Given the description of an element on the screen output the (x, y) to click on. 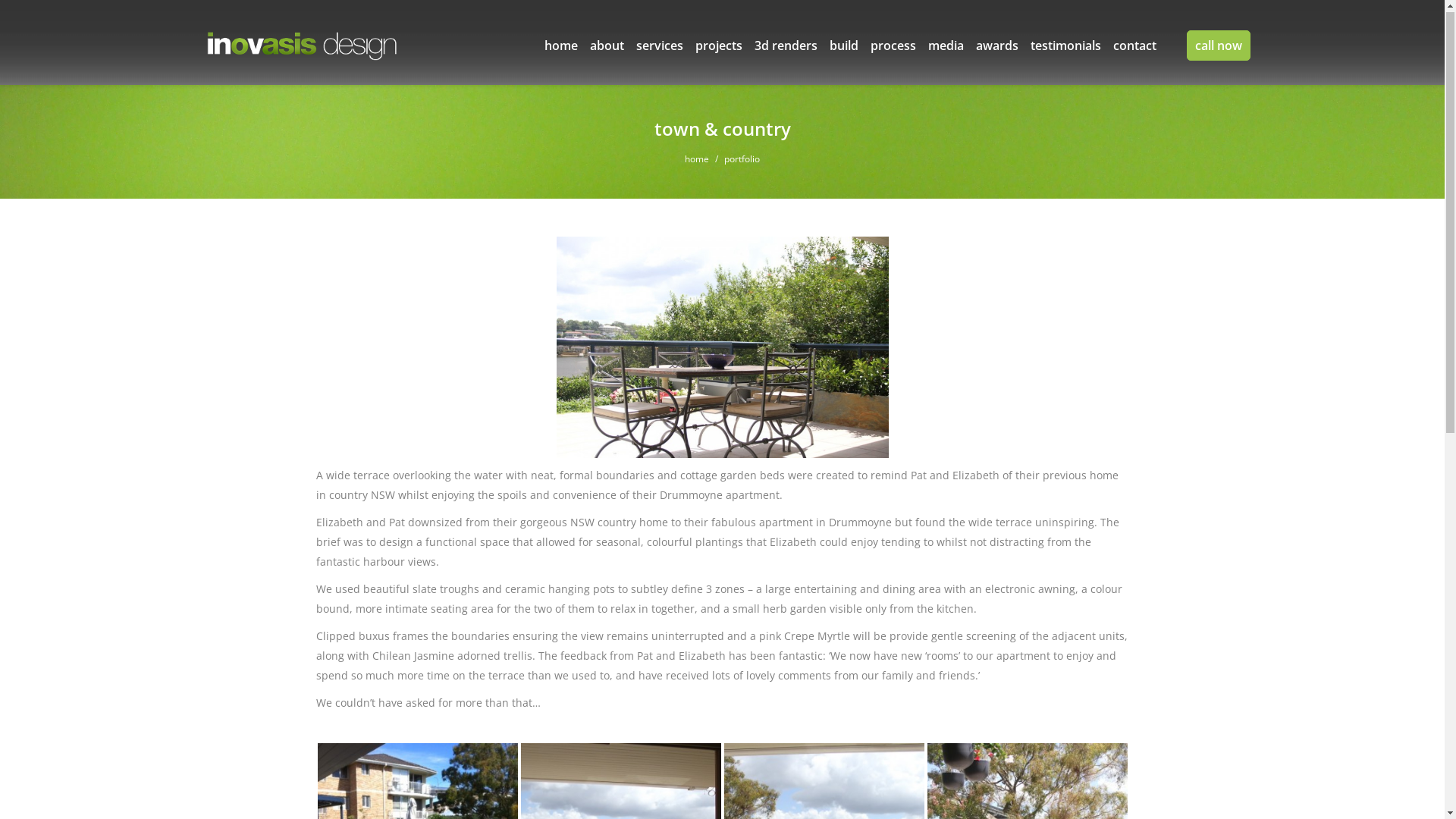
projects Element type: text (717, 46)
portfolio Element type: text (741, 159)
home Element type: text (696, 159)
contact Element type: text (1134, 46)
testimonials Element type: text (1064, 46)
services Element type: text (658, 46)
build Element type: text (843, 46)
home Element type: text (560, 46)
process Element type: text (893, 46)
about Element type: text (606, 46)
awards Element type: text (996, 46)
3d renders Element type: text (784, 46)
call now Element type: text (1217, 46)
media Element type: text (945, 46)
